Given the description of an element on the screen output the (x, y) to click on. 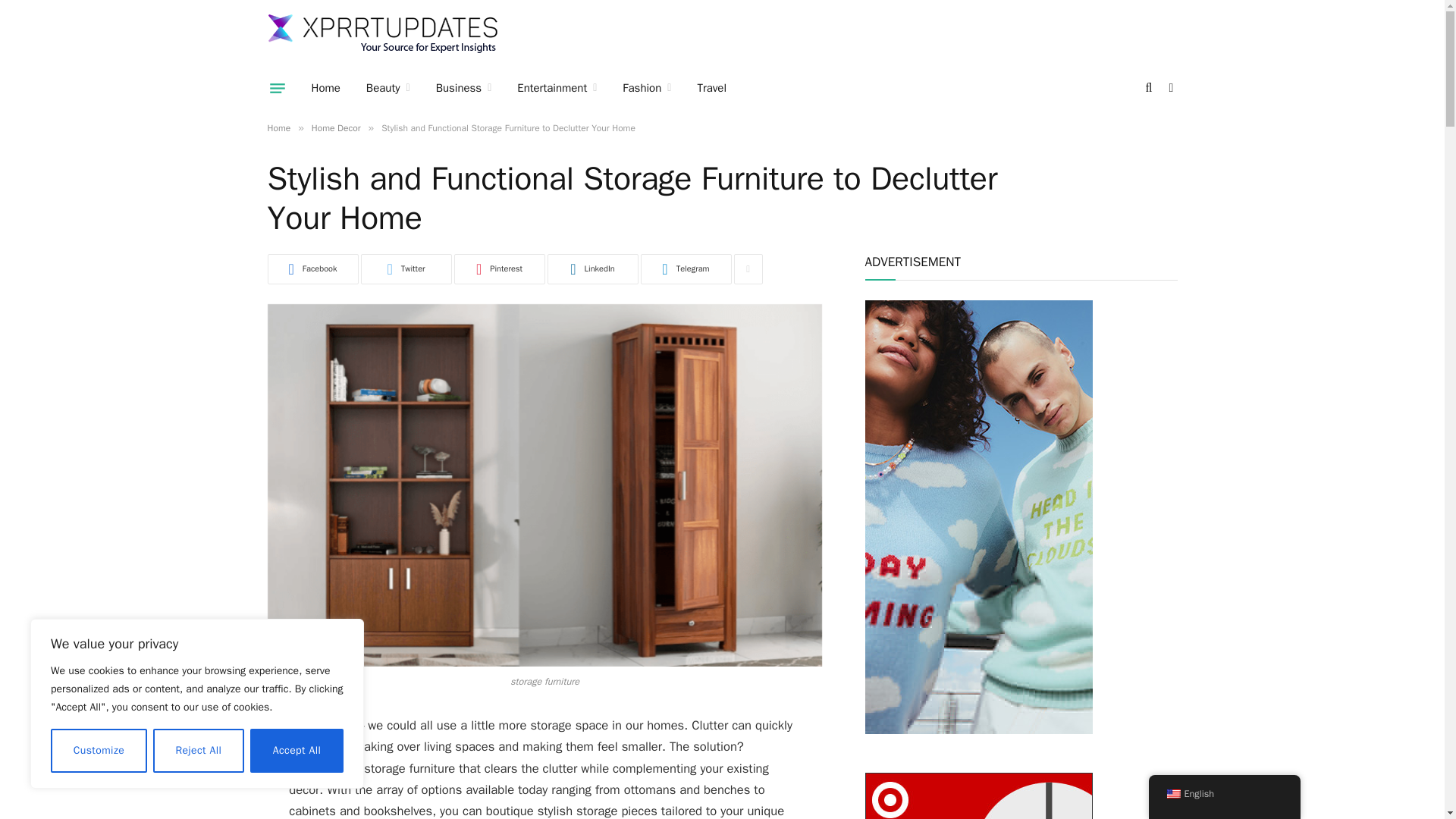
Reject All (198, 750)
Share on Pinterest (498, 268)
Share on Facebook (312, 268)
Share on Telegram (685, 268)
Entertainment (556, 87)
Xprrtupdates (381, 34)
Switch to Dark Design - easier on eyes. (1169, 87)
Accept All (296, 750)
Beauty (388, 87)
Fashion (647, 87)
